Given the description of an element on the screen output the (x, y) to click on. 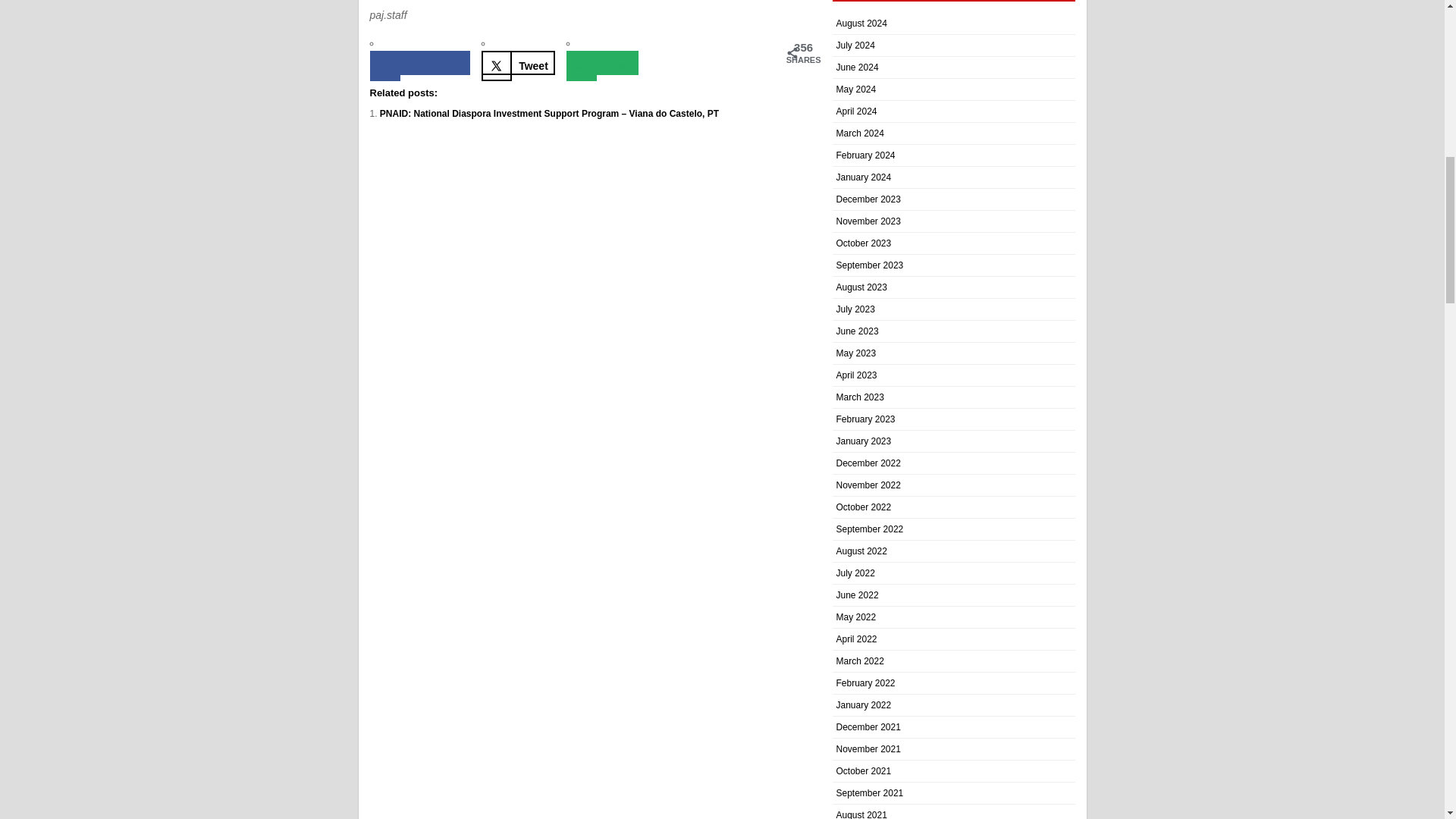
Send over email (602, 62)
Share on Facebook (419, 62)
Share on X (517, 62)
